Given the description of an element on the screen output the (x, y) to click on. 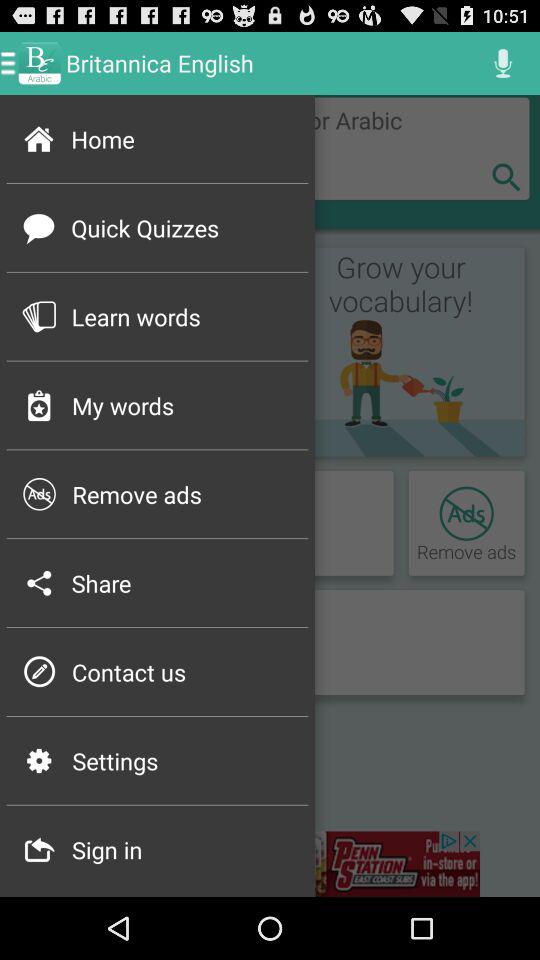
turn off the app to the left of contact us (38, 671)
